Given the description of an element on the screen output the (x, y) to click on. 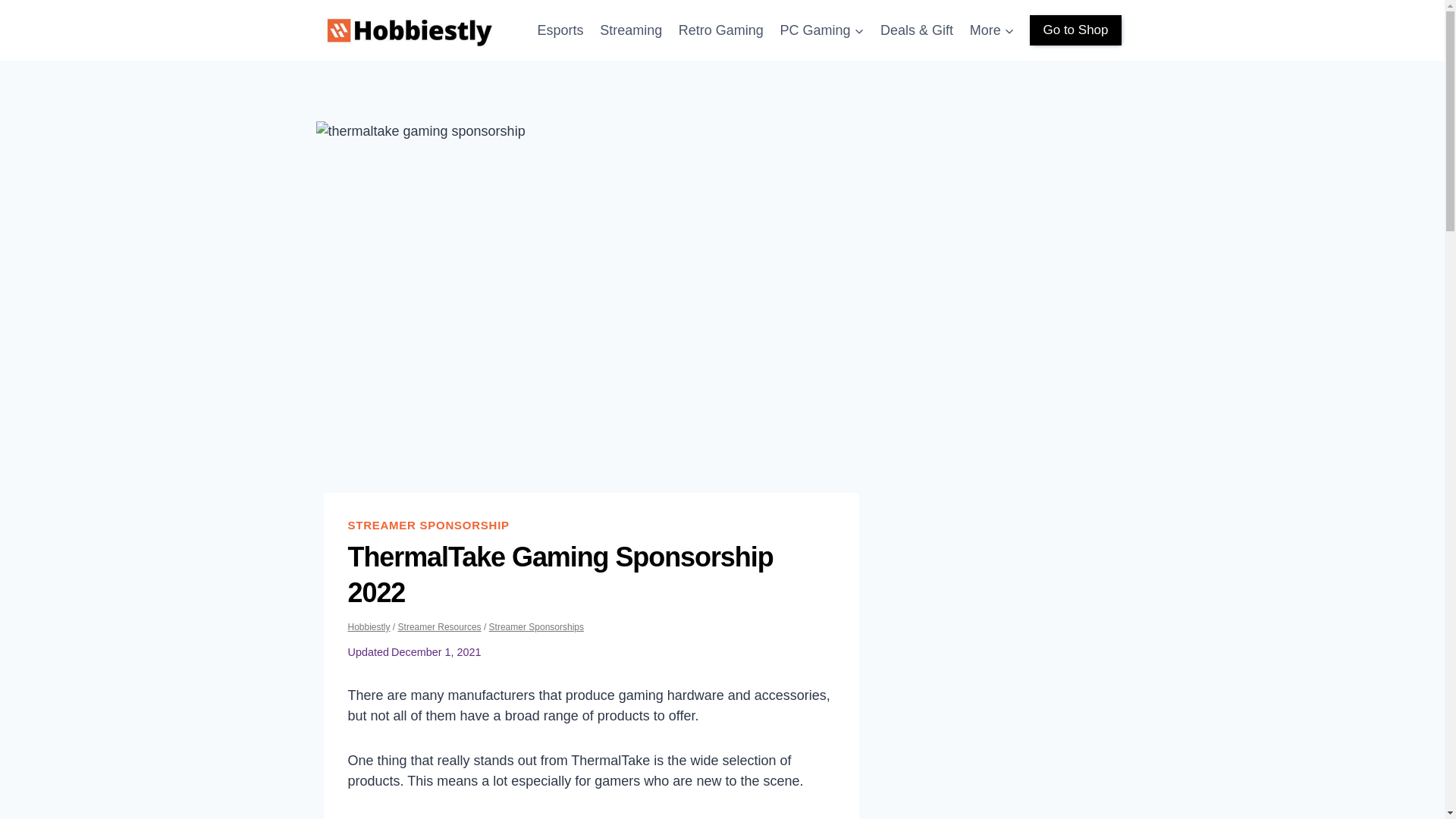
STREAMER SPONSORSHIP (427, 524)
Streaming (630, 30)
More (991, 30)
Go to Shop (1075, 30)
PC Gaming (821, 30)
Streamer Resources (439, 626)
Esports (560, 30)
Streamer Sponsorships (536, 626)
Retro Gaming (720, 30)
Hobbiestly (368, 626)
